Given the description of an element on the screen output the (x, y) to click on. 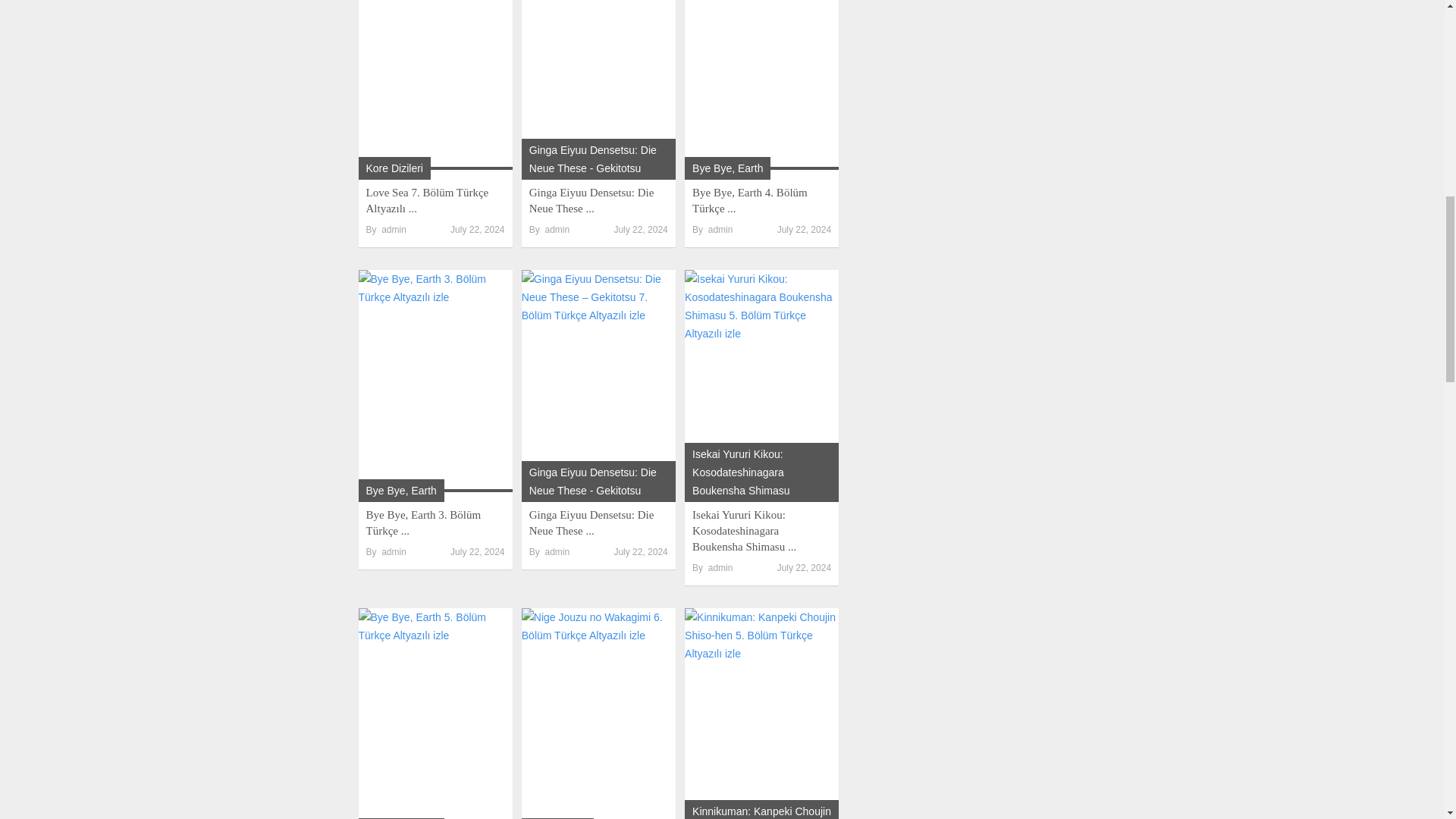
Ginga Eiyuu Densetsu: Die Neue These ... (591, 200)
admin (393, 229)
admin (556, 229)
Ginga Eiyuu Densetsu: Die Neue These - Gekitotsu (592, 159)
Kore Dizileri (393, 168)
